Given the description of an element on the screen output the (x, y) to click on. 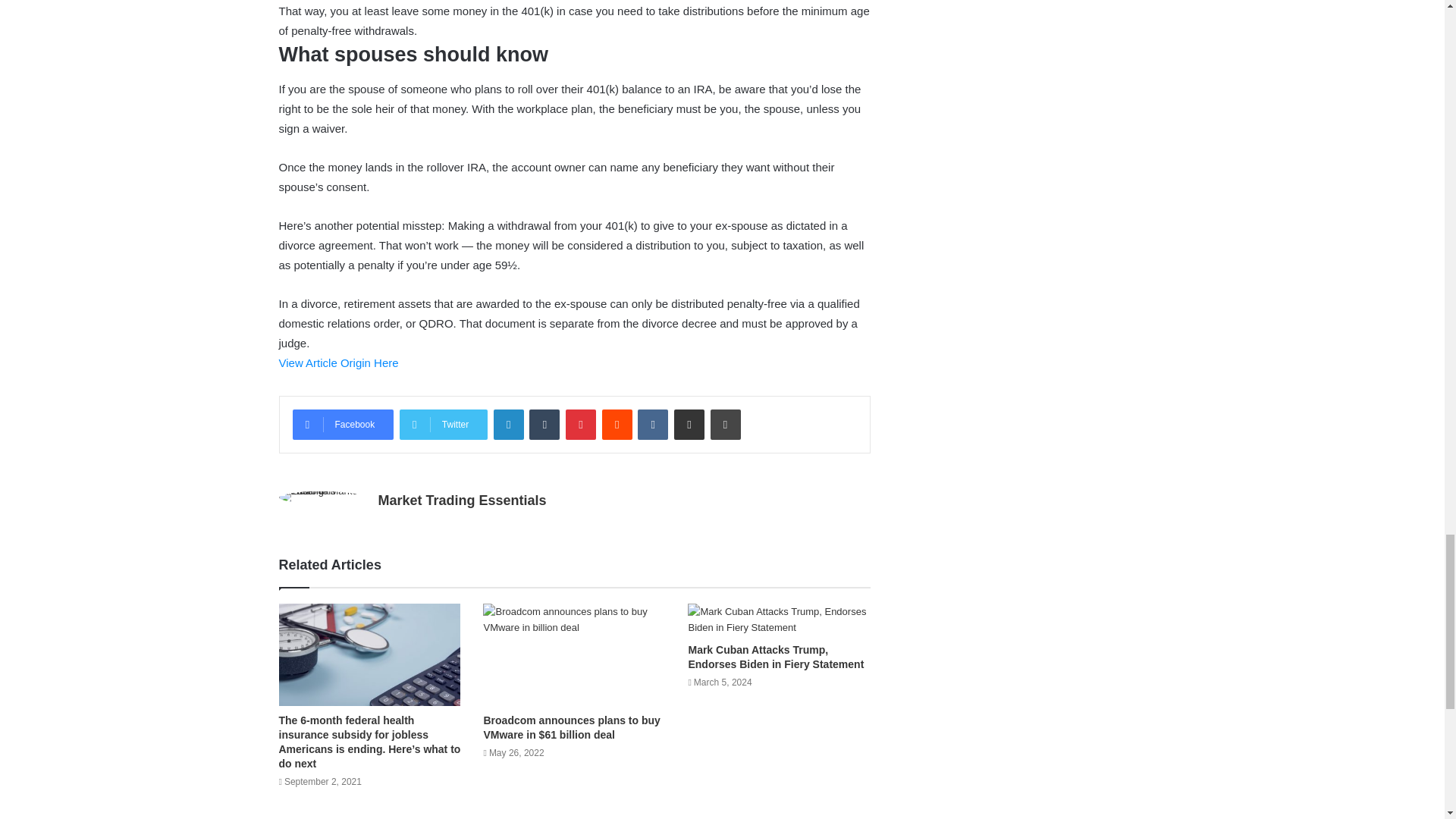
Share via Email (689, 424)
LinkedIn (508, 424)
Share via Email (689, 424)
Print (725, 424)
Twitter (442, 424)
Mark Cuban Attacks Trump, Endorses Biden in Fiery Statement (778, 619)
VKontakte (652, 424)
Tumblr (544, 424)
Market Trading Essentials (461, 500)
Print (725, 424)
View Article Origin Here (338, 362)
Pinterest (580, 424)
Reddit (616, 424)
Broadcom announces plans to buy VMware in  billion deal (574, 654)
Twitter (442, 424)
